Given the description of an element on the screen output the (x, y) to click on. 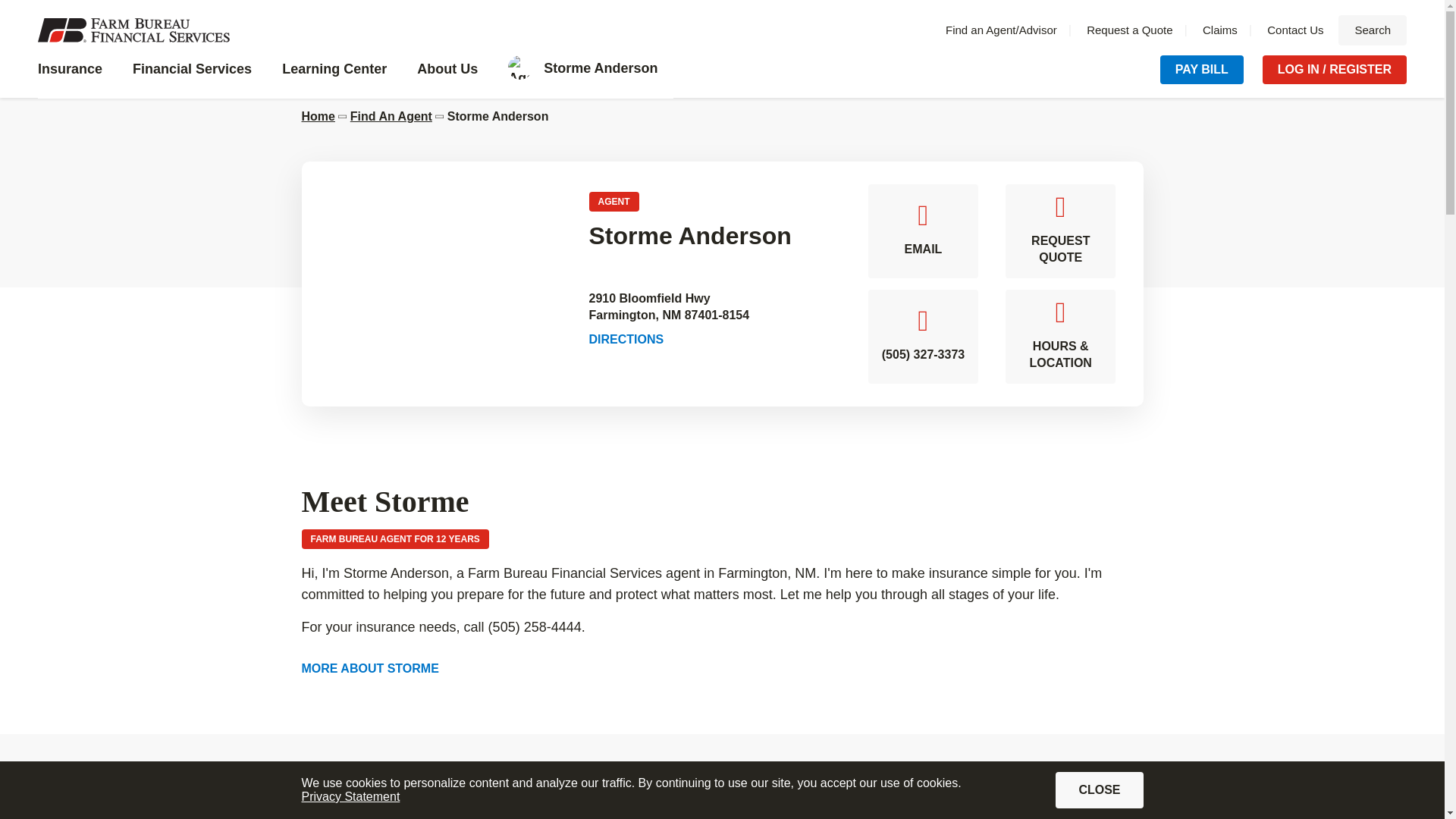
Contact Us (1294, 29)
Insurance (77, 78)
Privacy Statement (1372, 30)
CLOSE (350, 796)
Claims (1098, 790)
Request a Quote (1219, 29)
SKIP TO MAIN CONTENT (1129, 29)
